Given the description of an element on the screen output the (x, y) to click on. 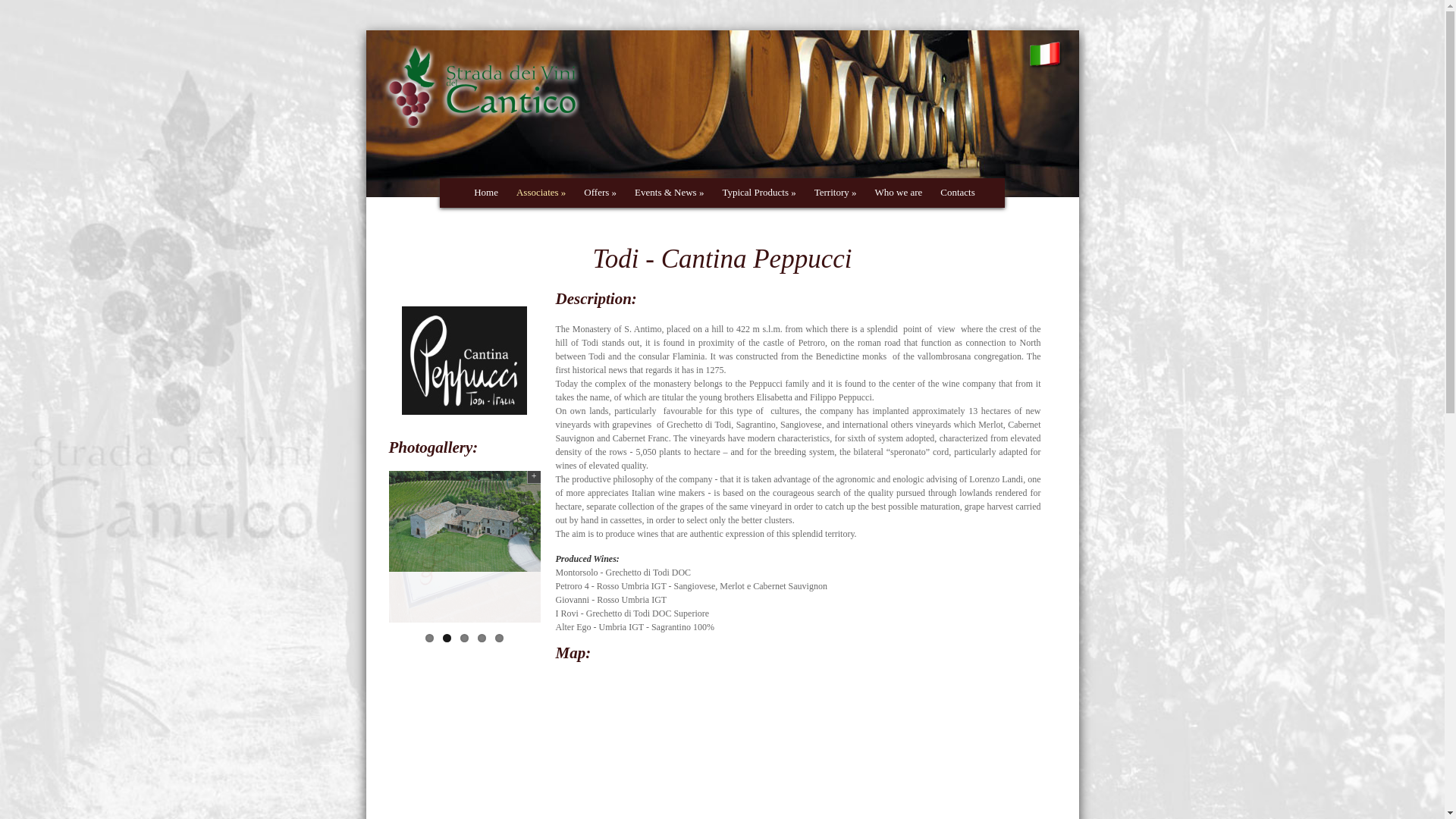
Versione Italiana (1045, 60)
Home (484, 192)
